Given the description of an element on the screen output the (x, y) to click on. 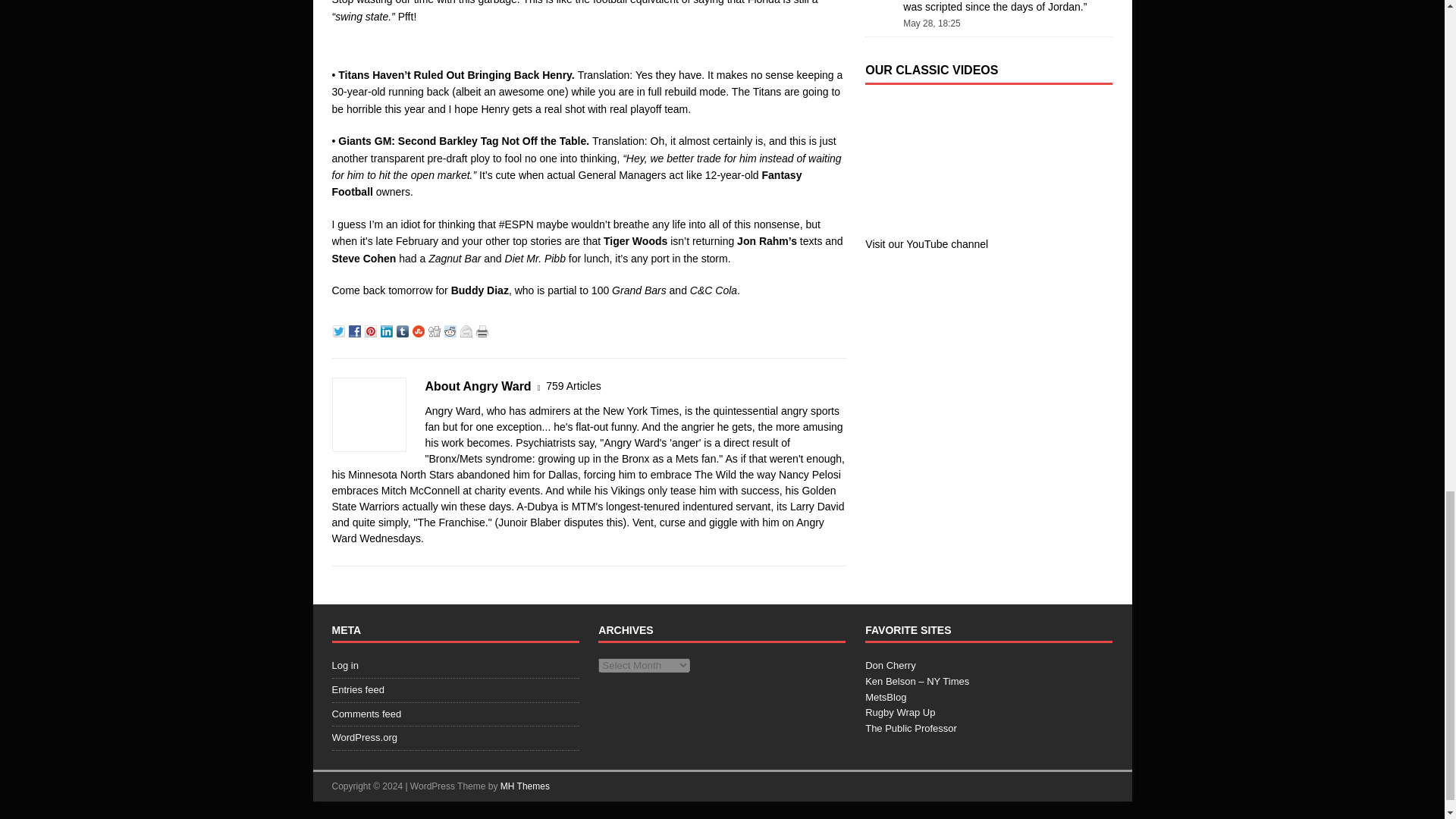
Print (484, 329)
Reddit (452, 329)
759 Articles (572, 385)
Tumblr (404, 329)
Digg (436, 329)
Email (468, 329)
Facebook (357, 329)
Twitter (339, 329)
Pinterest (372, 329)
Linkedin (388, 329)
